Given the description of an element on the screen output the (x, y) to click on. 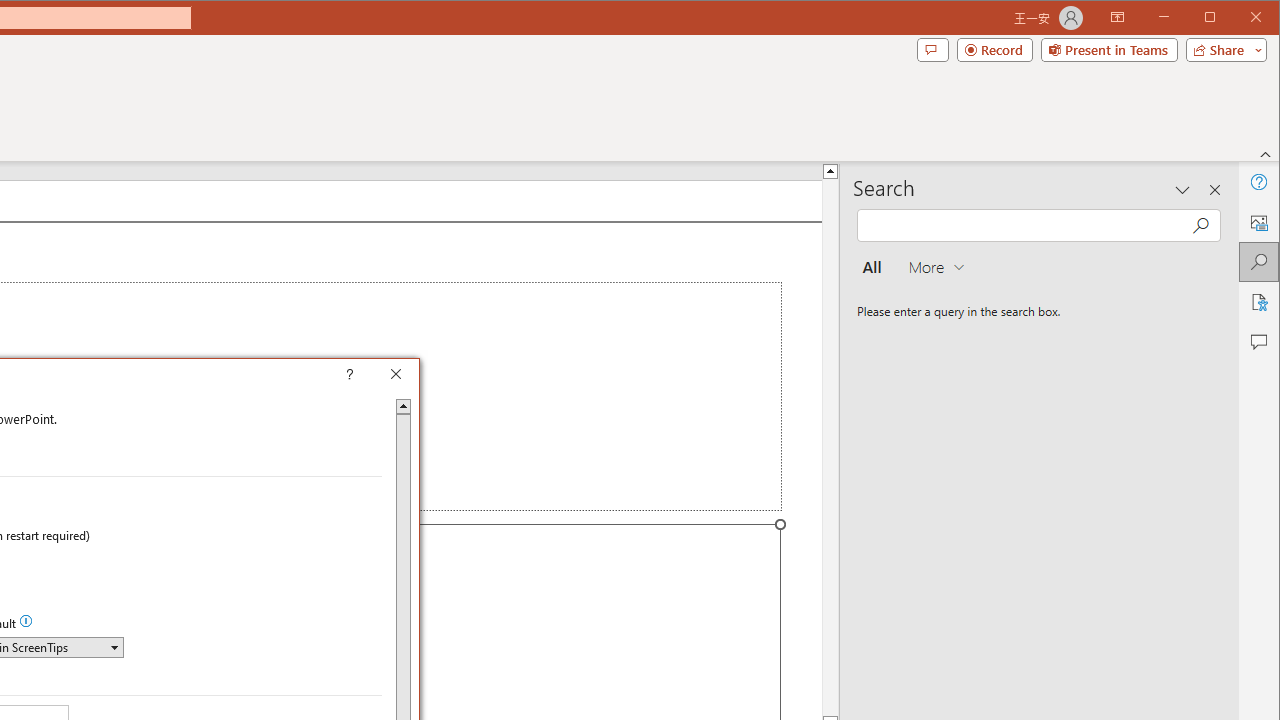
Context help (378, 376)
